Given the description of an element on the screen output the (x, y) to click on. 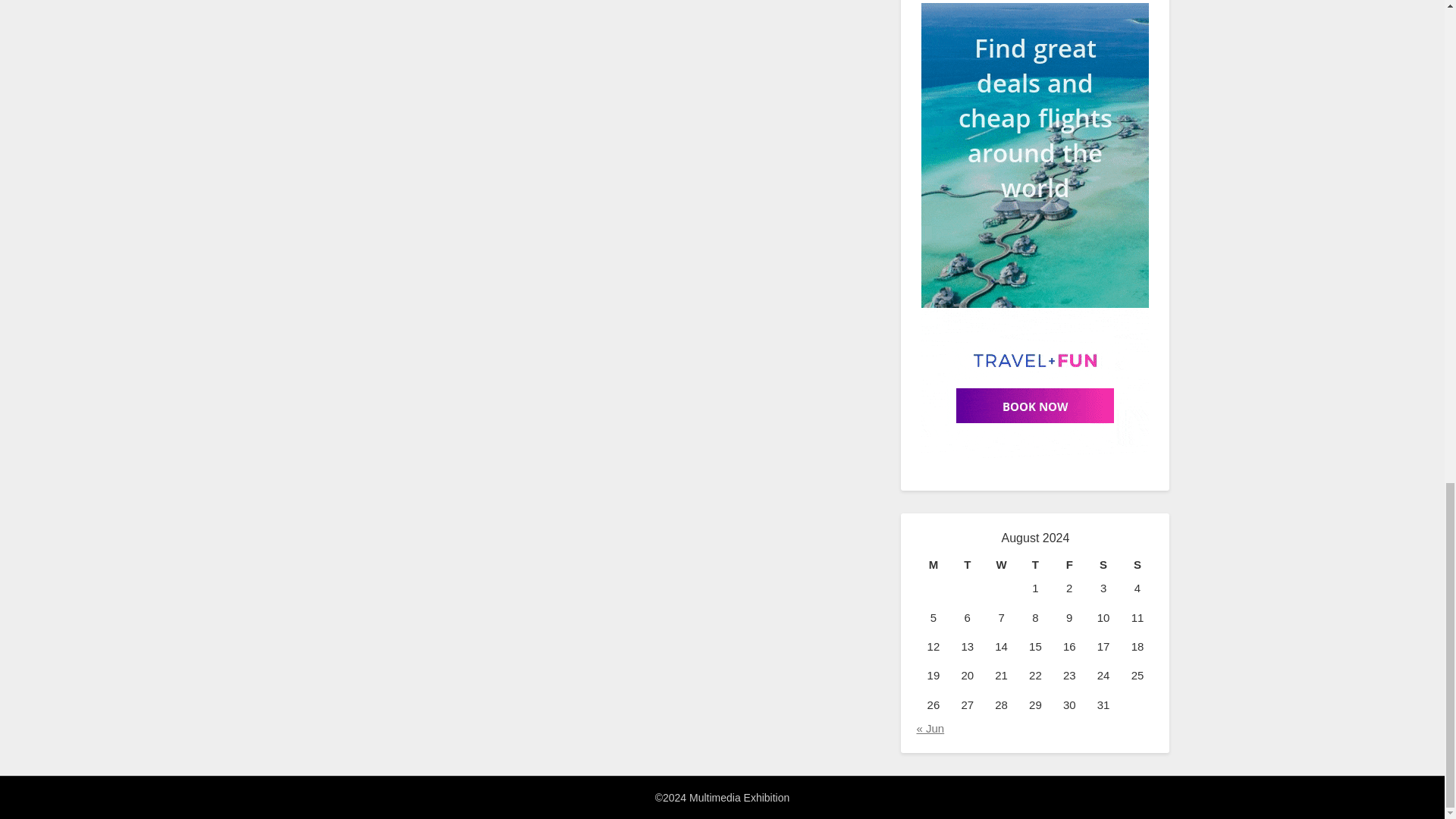
Thursday (1034, 565)
Wednesday (1000, 565)
Saturday (1103, 565)
Monday (932, 565)
Tuesday (967, 565)
Sunday (1137, 565)
Friday (1069, 565)
